Given the description of an element on the screen output the (x, y) to click on. 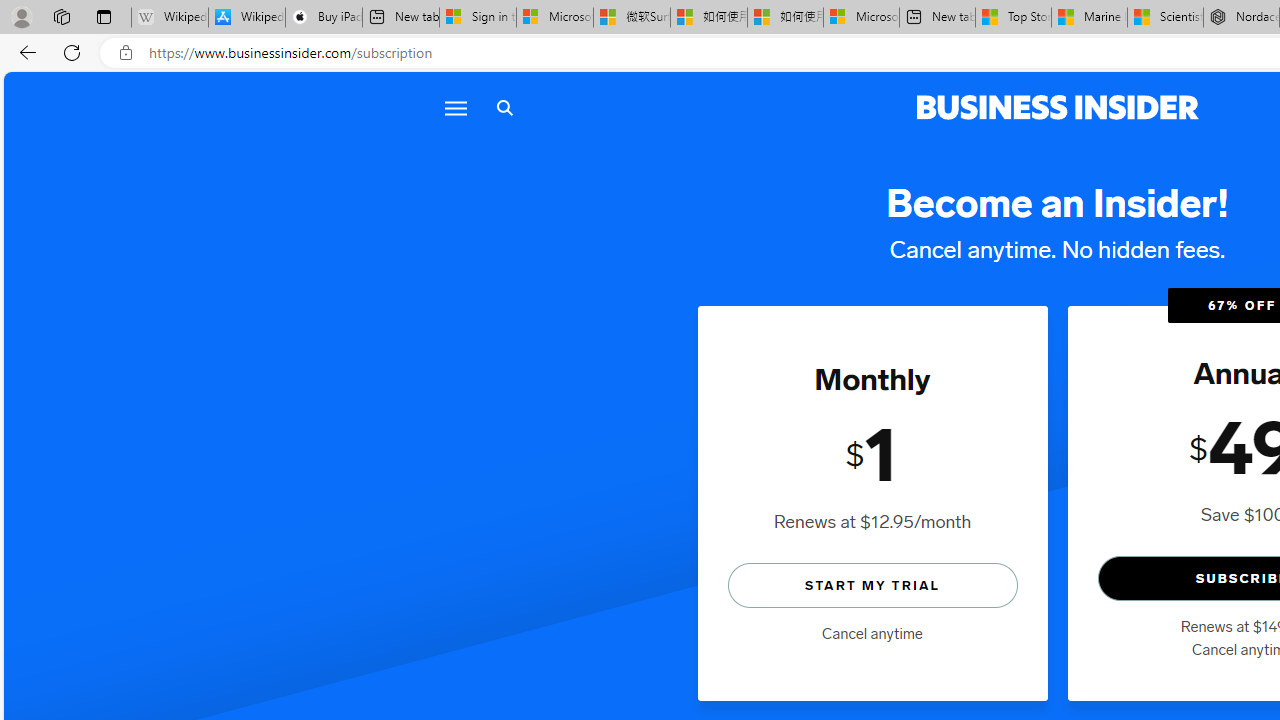
Menu icon (455, 107)
Cancel anytime (872, 633)
Business Insider logo (1057, 107)
Go to the search page. (504, 107)
Business Insider logo (1057, 107)
